Given the description of an element on the screen output the (x, y) to click on. 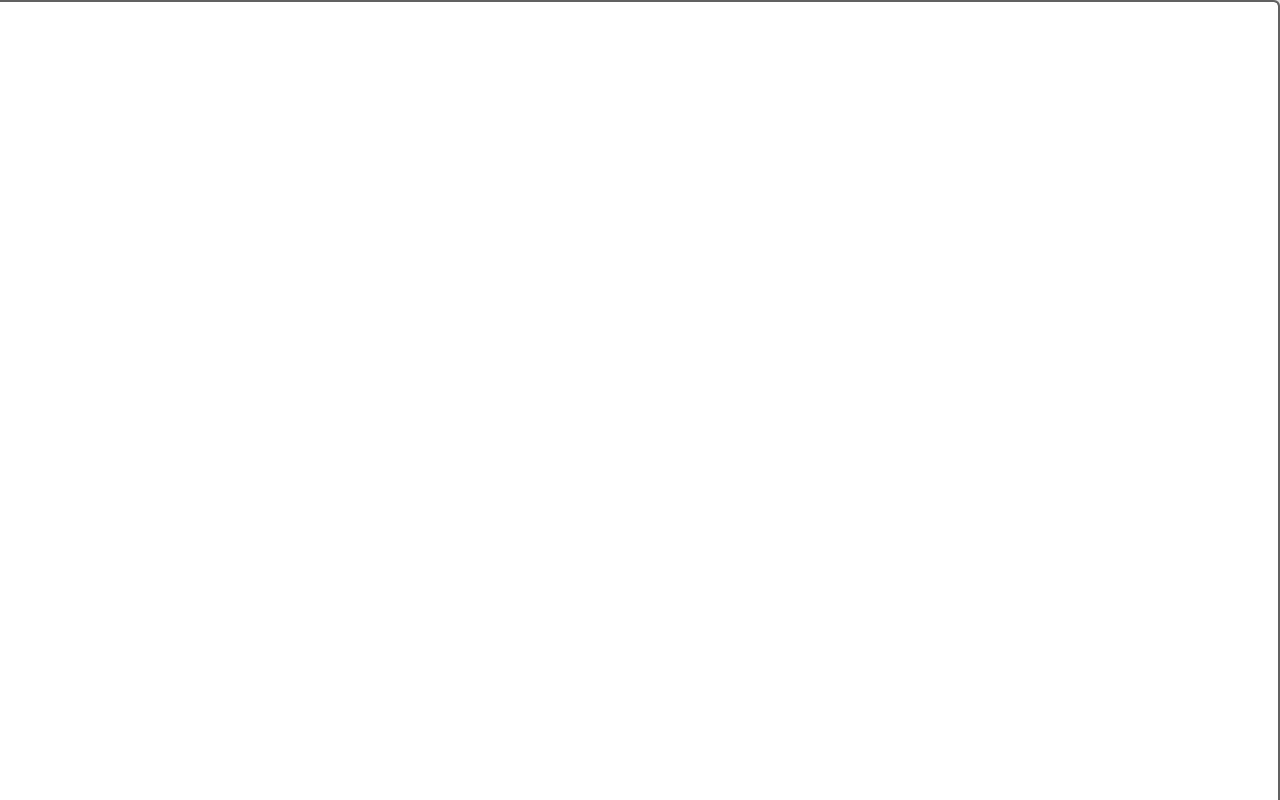
Replace... (617, 179)
Heading 2 (429, 178)
Row Down (523, 180)
Styles... (538, 252)
Sun (137, 768)
Heading 1 (267, 178)
